Given the description of an element on the screen output the (x, y) to click on. 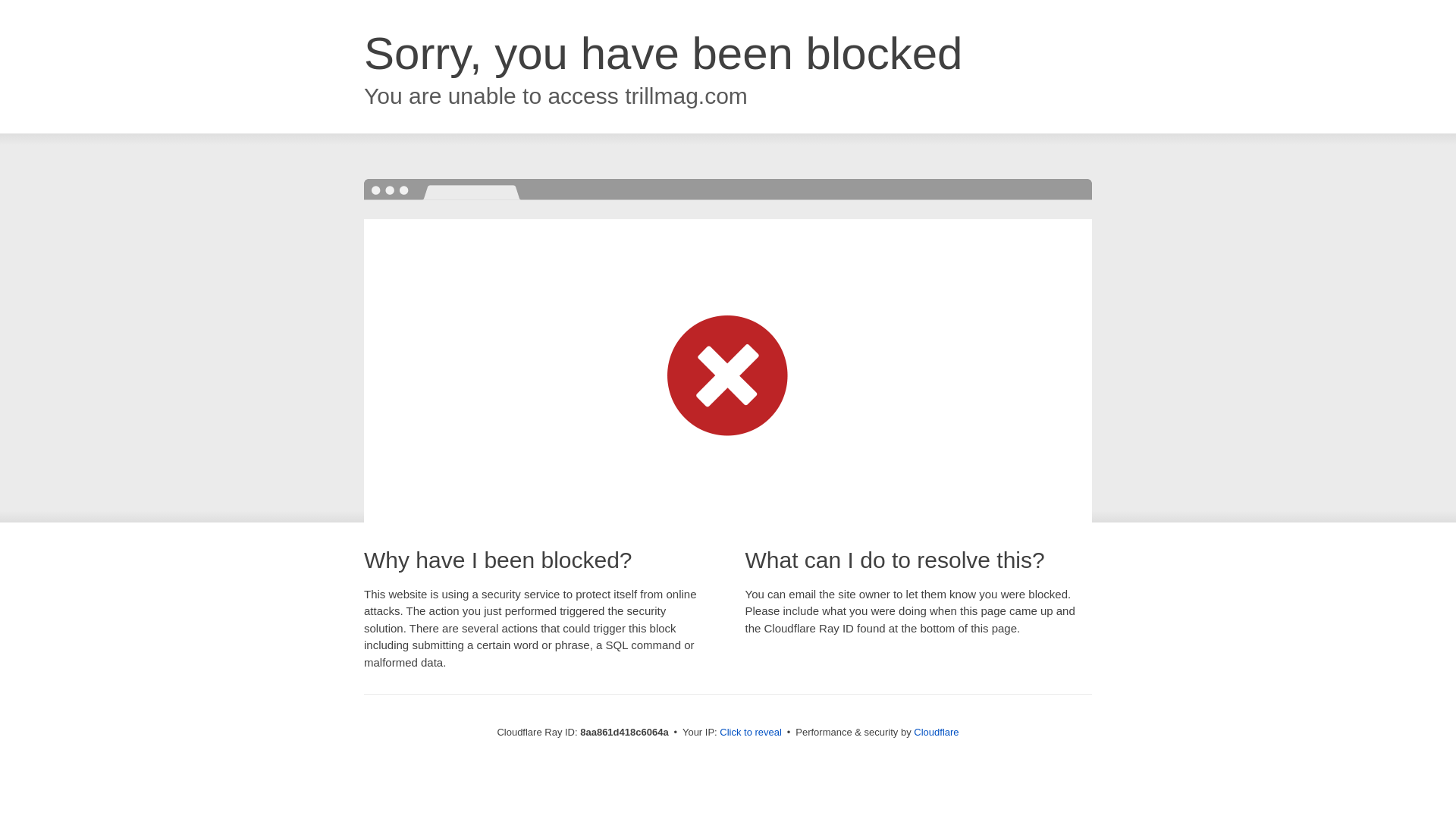
Cloudflare (936, 731)
Click to reveal (750, 732)
